Given the description of an element on the screen output the (x, y) to click on. 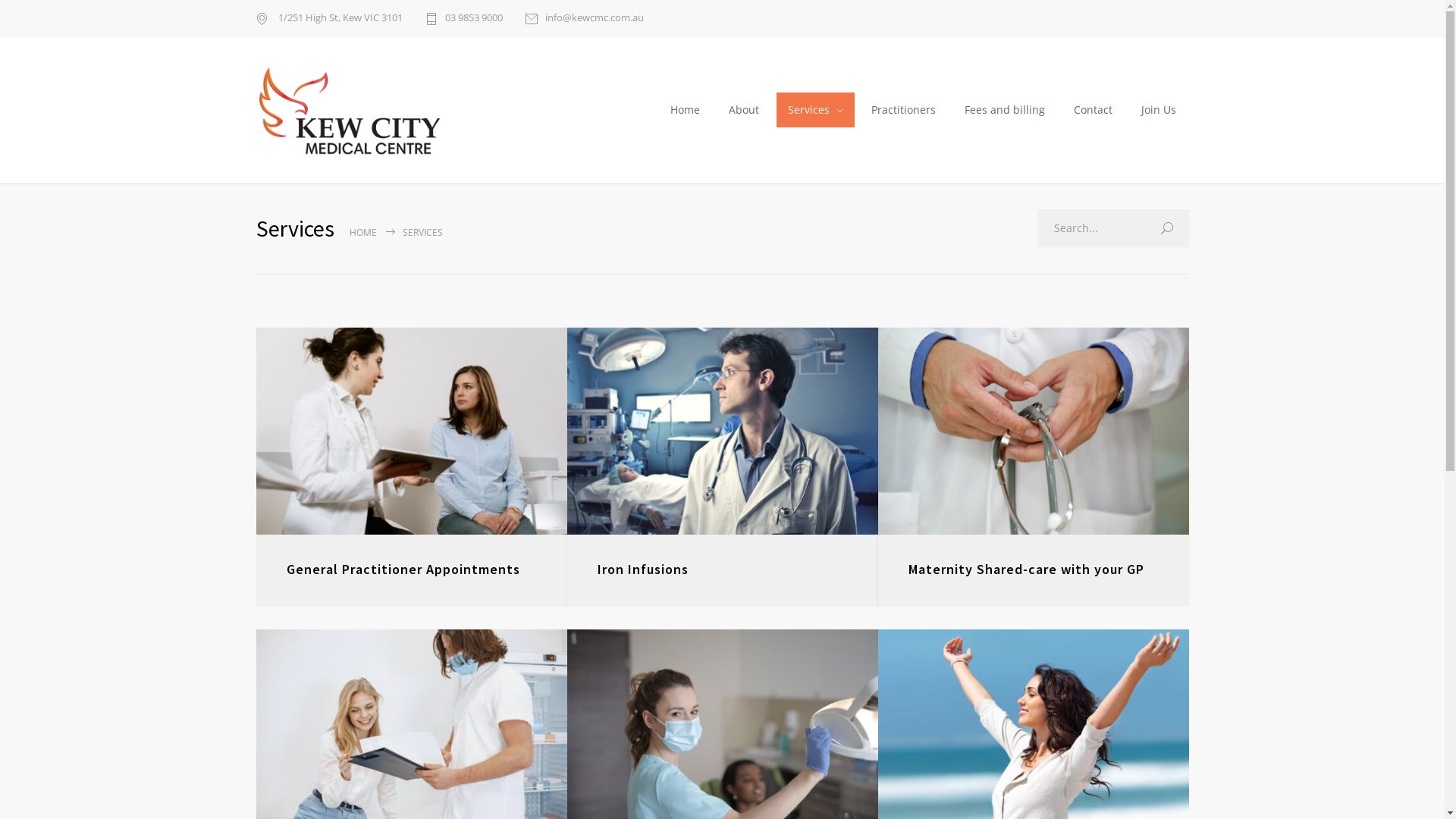
Iron Infusions Element type: text (642, 568)
03 9853 9000 Element type: text (463, 18)
Iron Infusions Element type: hover (722, 430)
Home Element type: text (685, 109)
info@kewcmc.com.au Element type: text (583, 18)
Services Element type: text (814, 109)
Maternity Shared-care with your GP Element type: hover (1033, 430)
Join Us Element type: text (1158, 109)
General Practitioner Appointments Element type: text (403, 568)
HOME Element type: text (362, 231)
General Practitioner Appointments Element type: hover (411, 430)
Fees and billing Element type: text (1004, 109)
Maternity Shared-care with your GP Element type: text (1026, 568)
Contact Element type: text (1093, 109)
Practitioners Element type: text (902, 109)
About Element type: text (743, 109)
